Given the description of an element on the screen output the (x, y) to click on. 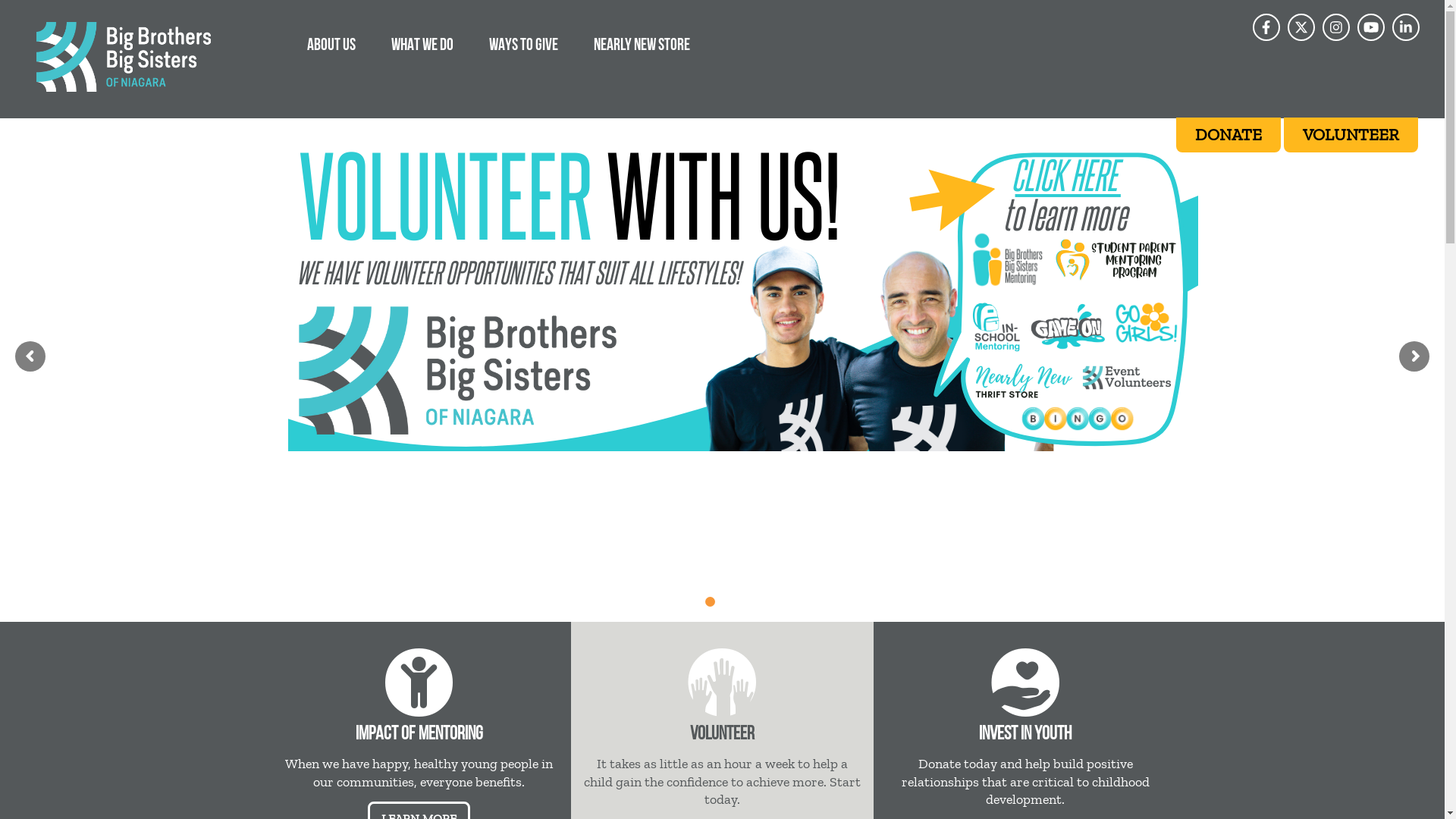
WHAT WE DO Element type: text (422, 44)
WAYS TO GIVE Element type: text (523, 44)
VOLUNTEER Element type: text (1350, 134)
ABOUT US Element type: text (330, 44)
NEARLY NEW STORE Element type: text (641, 44)
DONATE Element type: text (1228, 134)
